Given the description of an element on the screen output the (x, y) to click on. 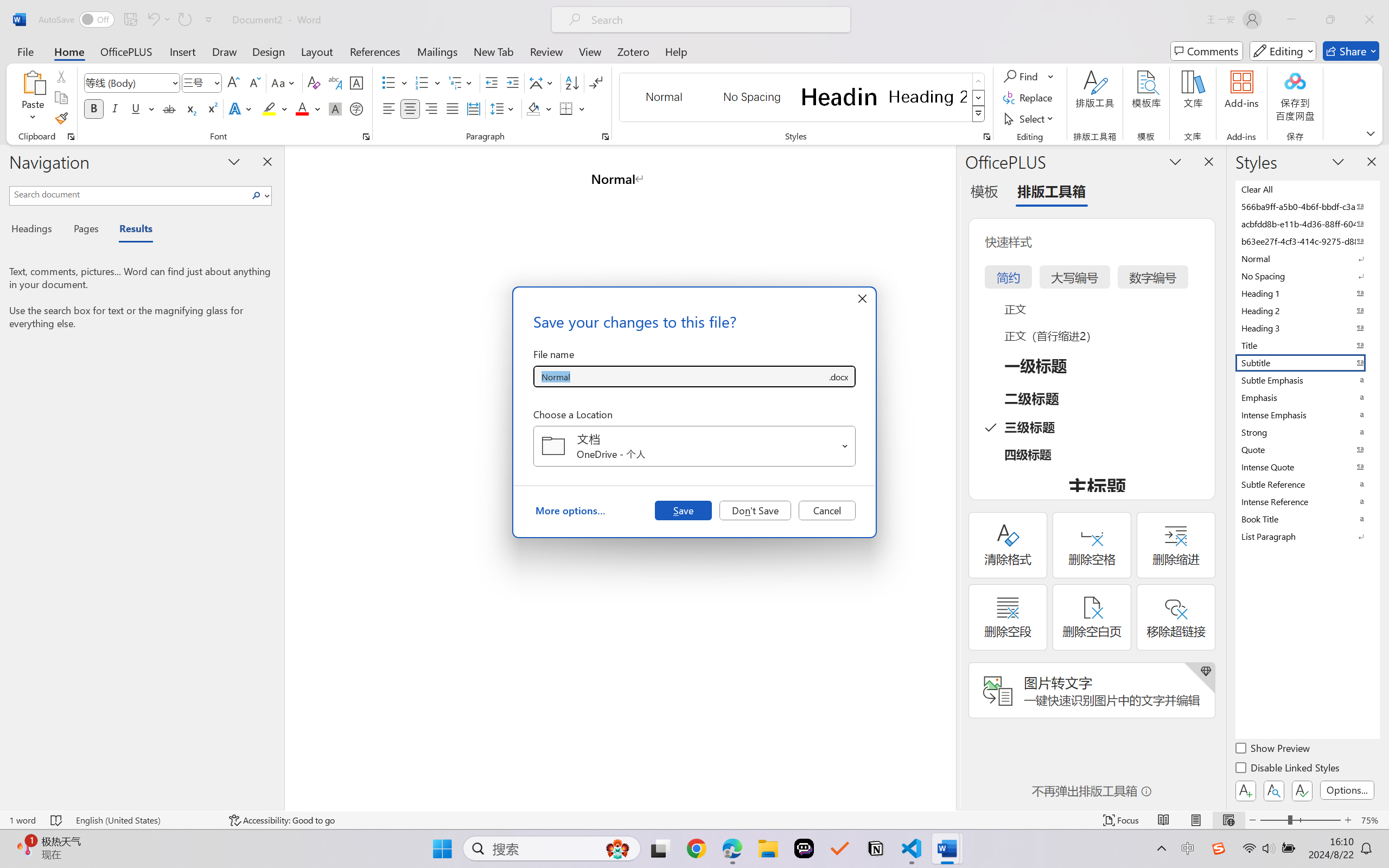
Grow Font (233, 82)
Open (844, 446)
Text Highlight Color (274, 108)
Choose a Location (694, 446)
Change Case (284, 82)
Superscript (210, 108)
Search (259, 195)
New Tab (493, 51)
Strikethrough (169, 108)
